Given the description of an element on the screen output the (x, y) to click on. 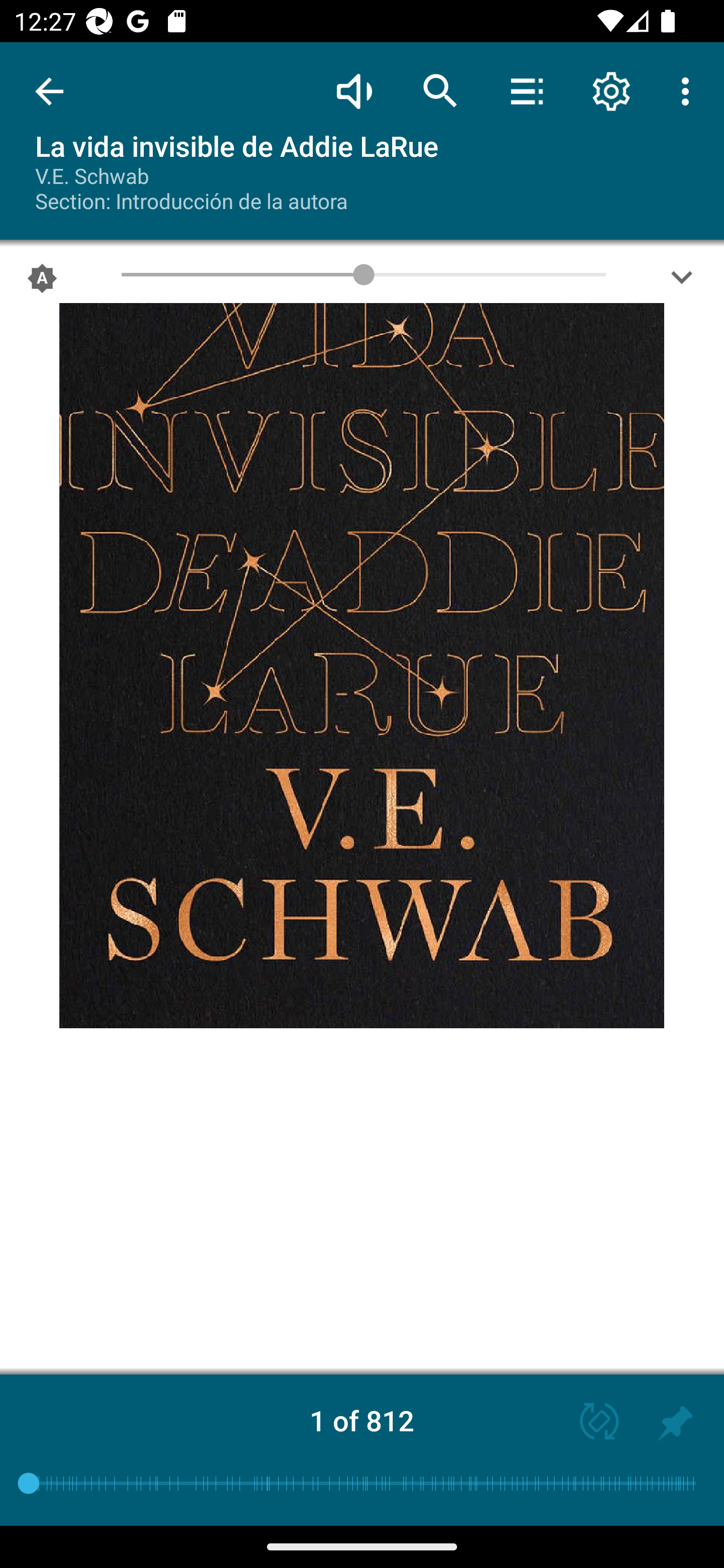
Exit reading (49, 91)
Read aloud (354, 90)
Text search (440, 90)
Contents / Bookmarks / Quotes (526, 90)
Reading settings (611, 90)
More options (688, 90)
Selected screen brightness (42, 281)
Screen brightness settings (681, 281)
1 of 812 (361, 1420)
Screen orientation (590, 1423)
Add to history (674, 1423)
